Given the description of an element on the screen output the (x, y) to click on. 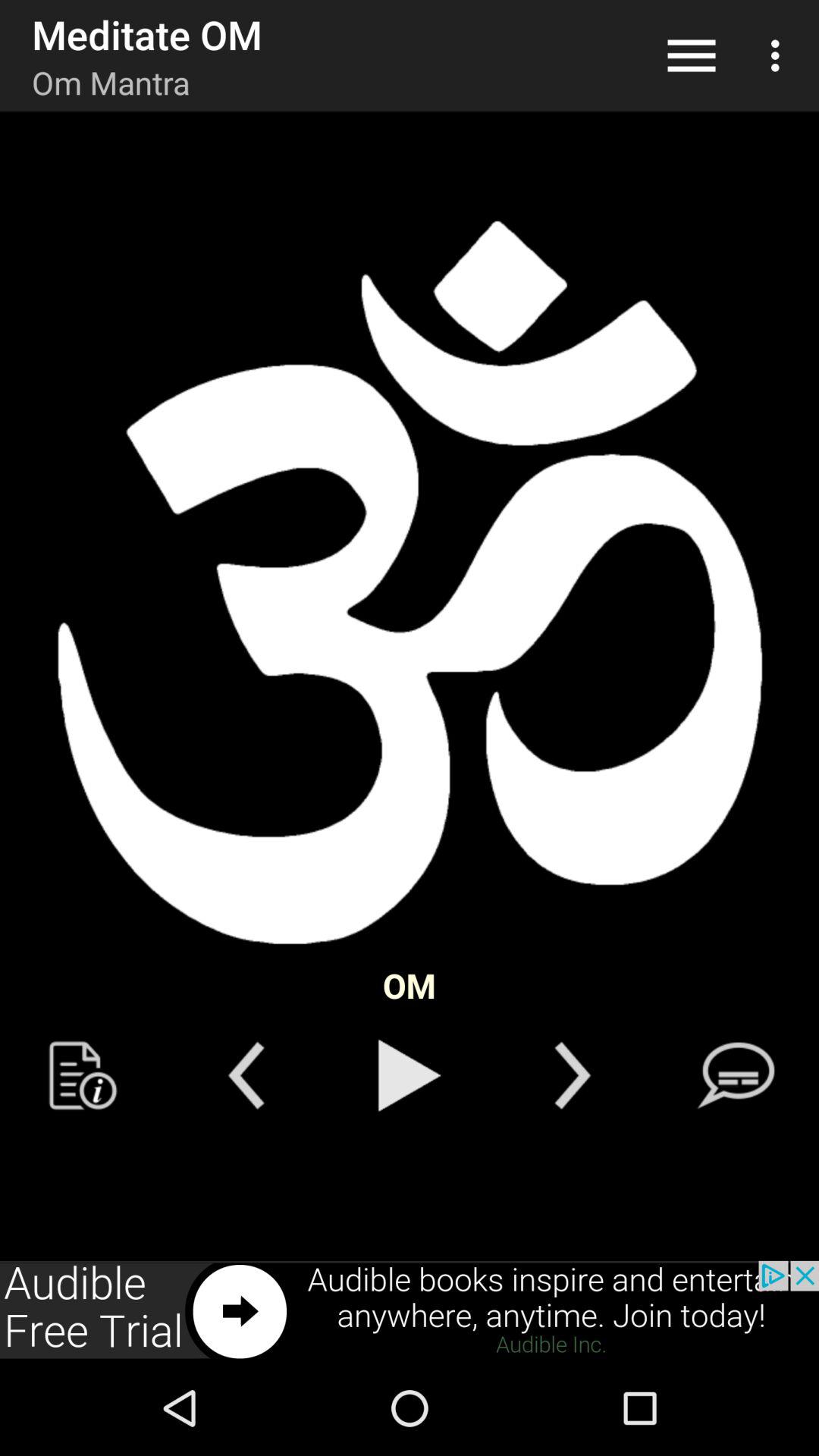
open advertisement (409, 1310)
